Given the description of an element on the screen output the (x, y) to click on. 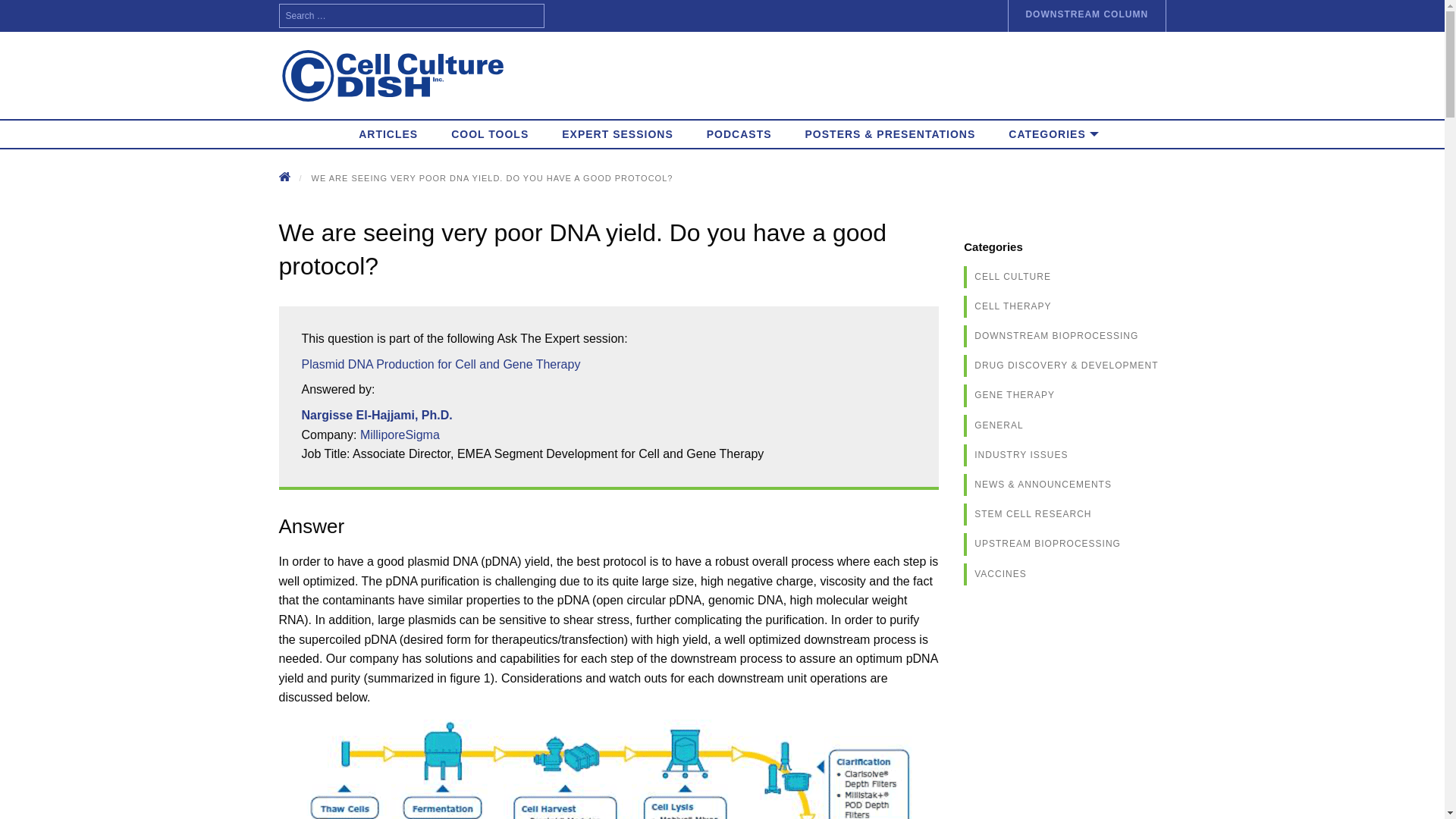
MilliporeSigma (399, 434)
ARTICLES (387, 134)
CATEGORIES (1046, 134)
PODCASTS (739, 134)
COOL TOOLS (488, 134)
Nargisse El-Hajjami, Ph.D. (376, 414)
DOWNSTREAM COLUMN (1086, 15)
Plasmid DNA Production for Cell and Gene Therapy (440, 364)
EXPERT SESSIONS (616, 134)
